Given the description of an element on the screen output the (x, y) to click on. 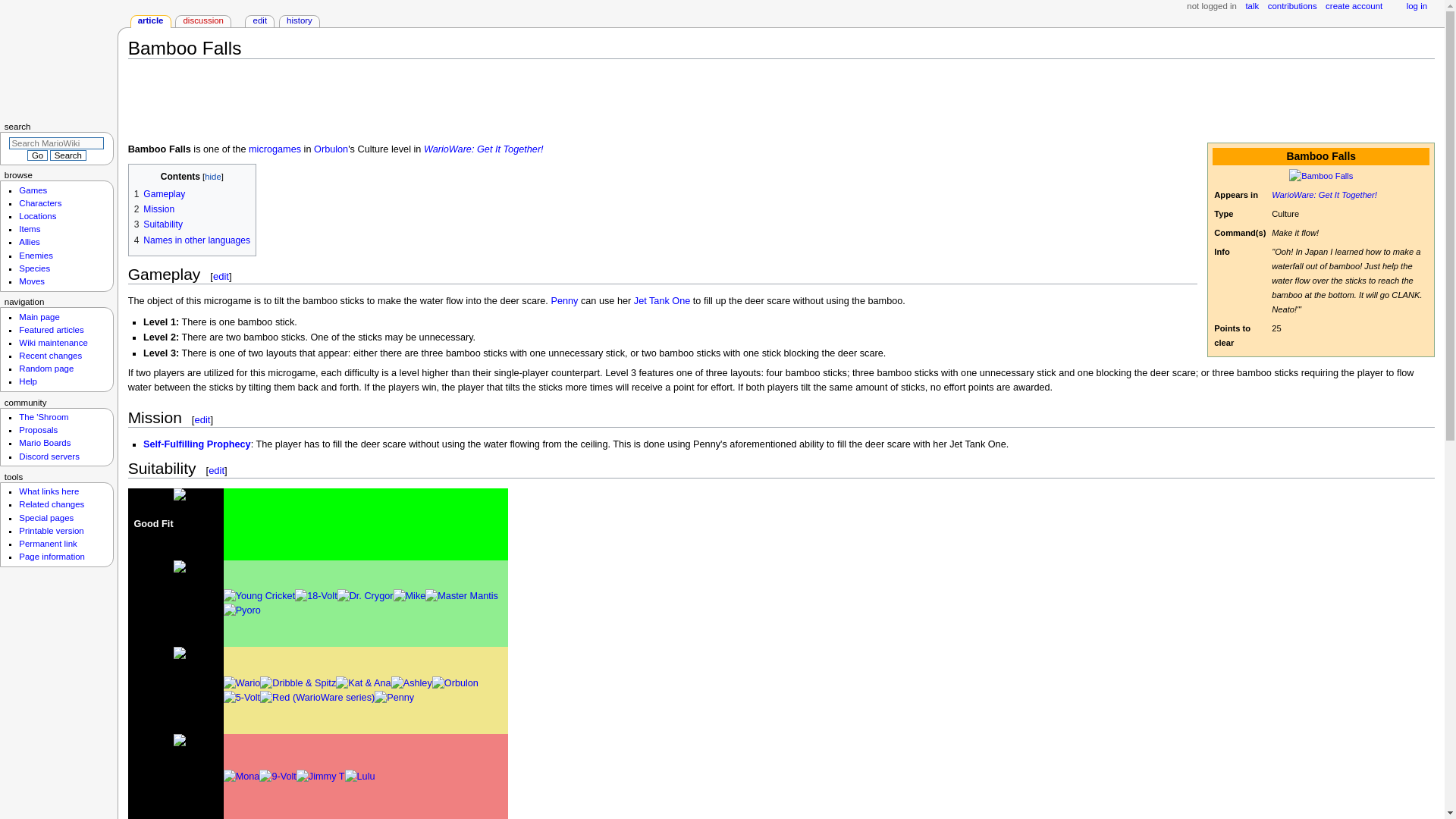
edit (220, 276)
4 Names in other languages (191, 240)
edit (201, 419)
Search (67, 154)
Pyoro (242, 610)
WarioWare: Get It Together! (483, 149)
Edit section: Gameplay (220, 276)
WarioWare: Get It Together! (1324, 194)
Go (36, 154)
Edit section: Mission (201, 419)
